Given the description of an element on the screen output the (x, y) to click on. 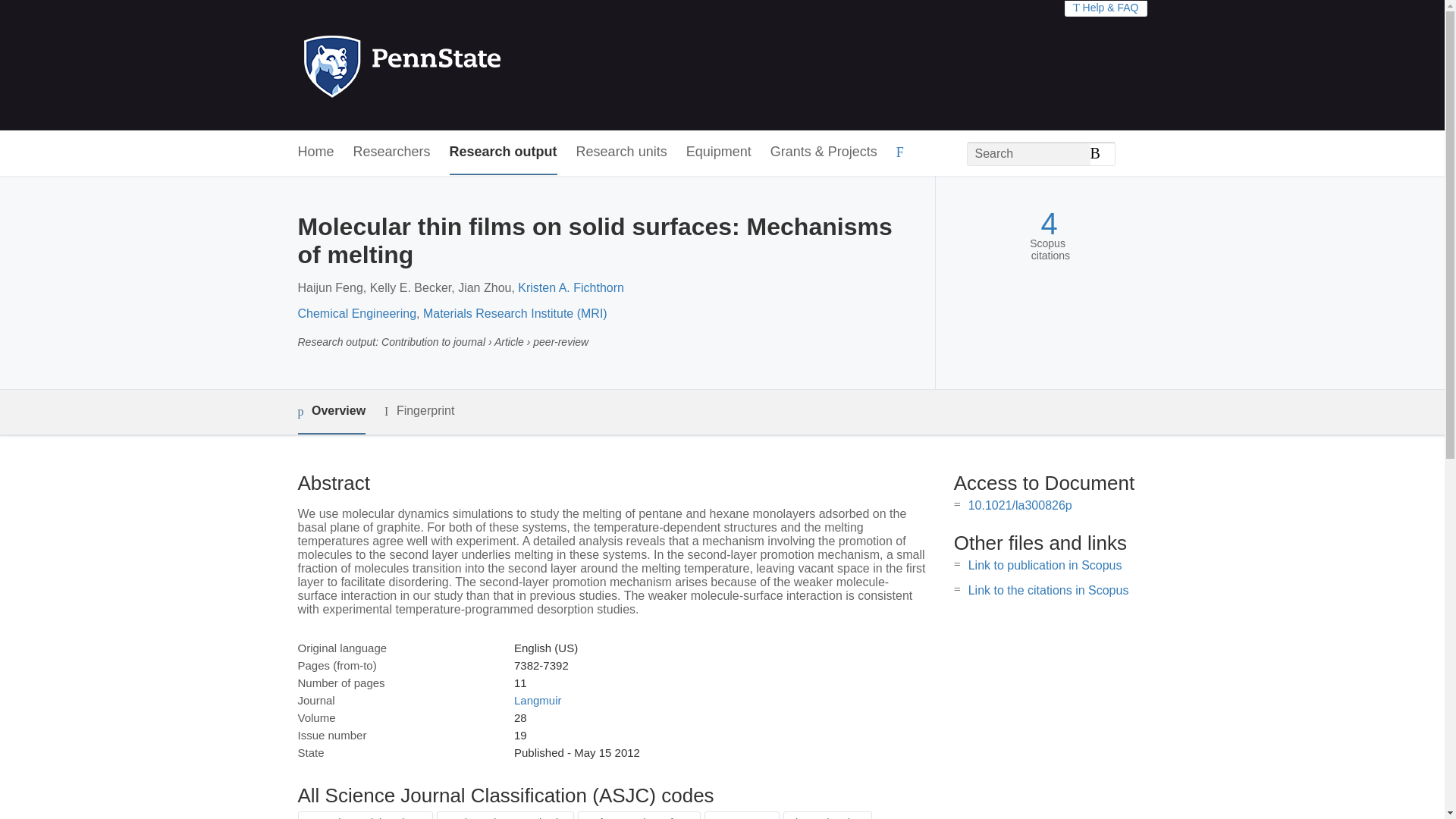
Researchers (391, 152)
Link to the citations in Scopus (1048, 590)
Overview (331, 411)
Research units (621, 152)
Kristen A. Fichthorn (571, 287)
Research output (503, 152)
Chemical Engineering (356, 313)
Penn State Home (467, 65)
Link to publication in Scopus (1045, 564)
Equipment (718, 152)
Langmuir (537, 699)
Fingerprint (419, 411)
